Given the description of an element on the screen output the (x, y) to click on. 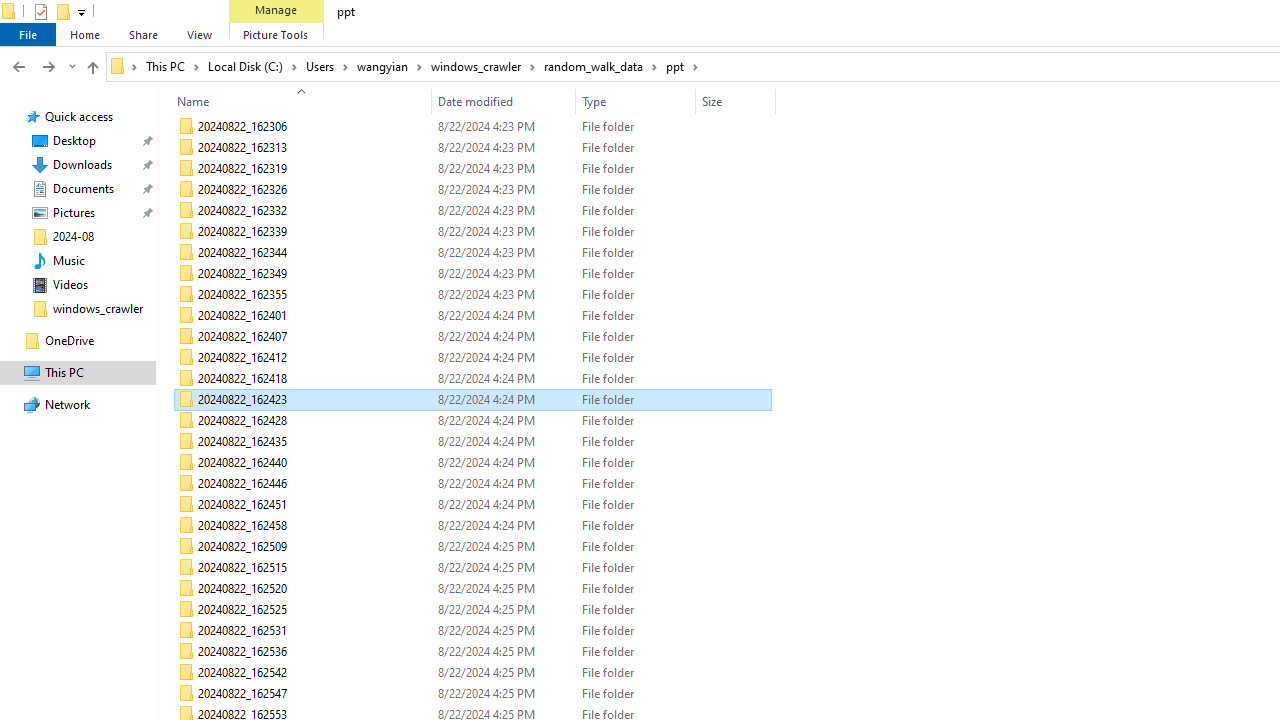
20240822_162458 (472, 525)
20240822_162418 (472, 378)
